Given the description of an element on the screen output the (x, y) to click on. 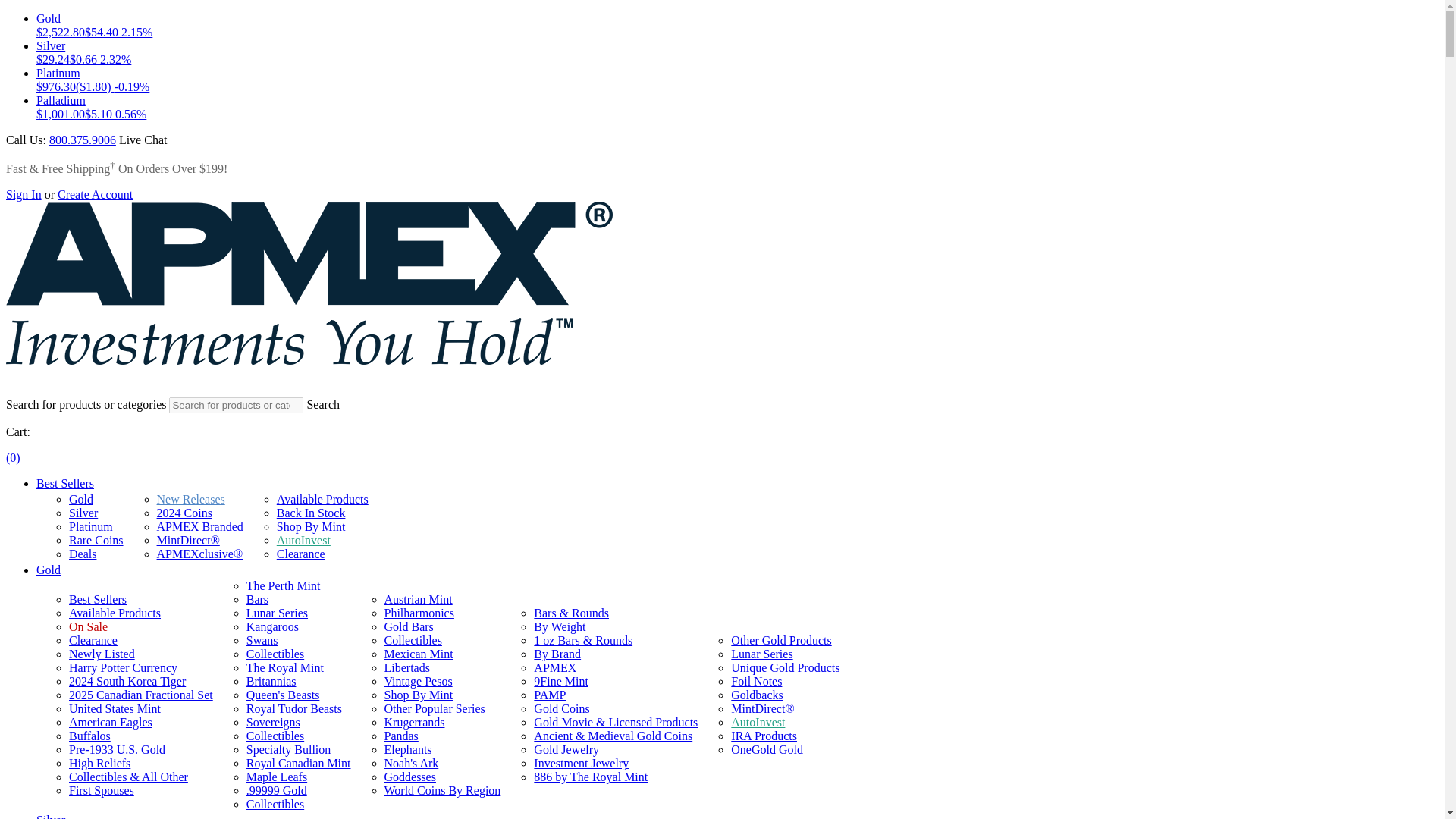
Harry Potter Currency (122, 667)
Deals (82, 553)
Rare Coins (95, 540)
Silver (82, 512)
Login (23, 194)
Create A Free Account (95, 194)
Sign In (23, 194)
Pre-1933 U.S. Gold (116, 748)
Back In Stock (311, 512)
Shop By Mint (311, 526)
